Given the description of an element on the screen output the (x, y) to click on. 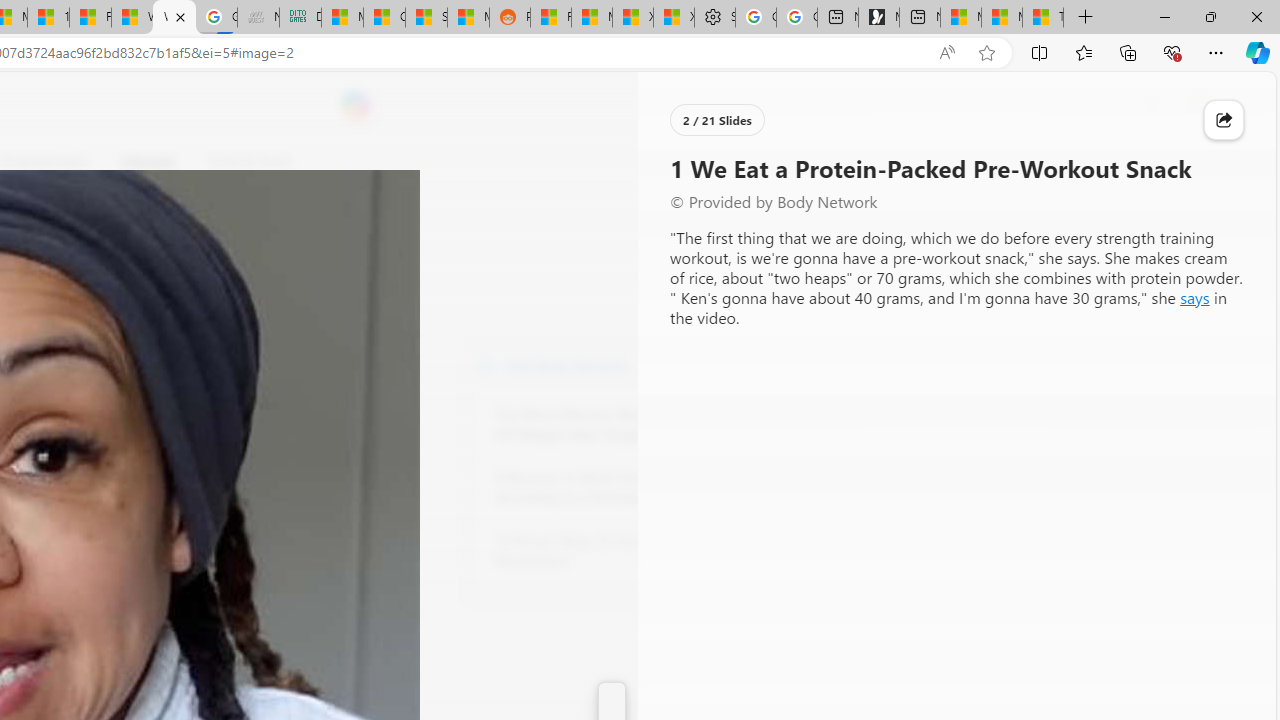
says (1194, 297)
R******* | Trusted Community Engagement and Contributions (550, 17)
8 Reasons to Drink Kombucha, According to a Nutritionist (603, 488)
Food & Drink (240, 162)
